Given the description of an element on the screen output the (x, y) to click on. 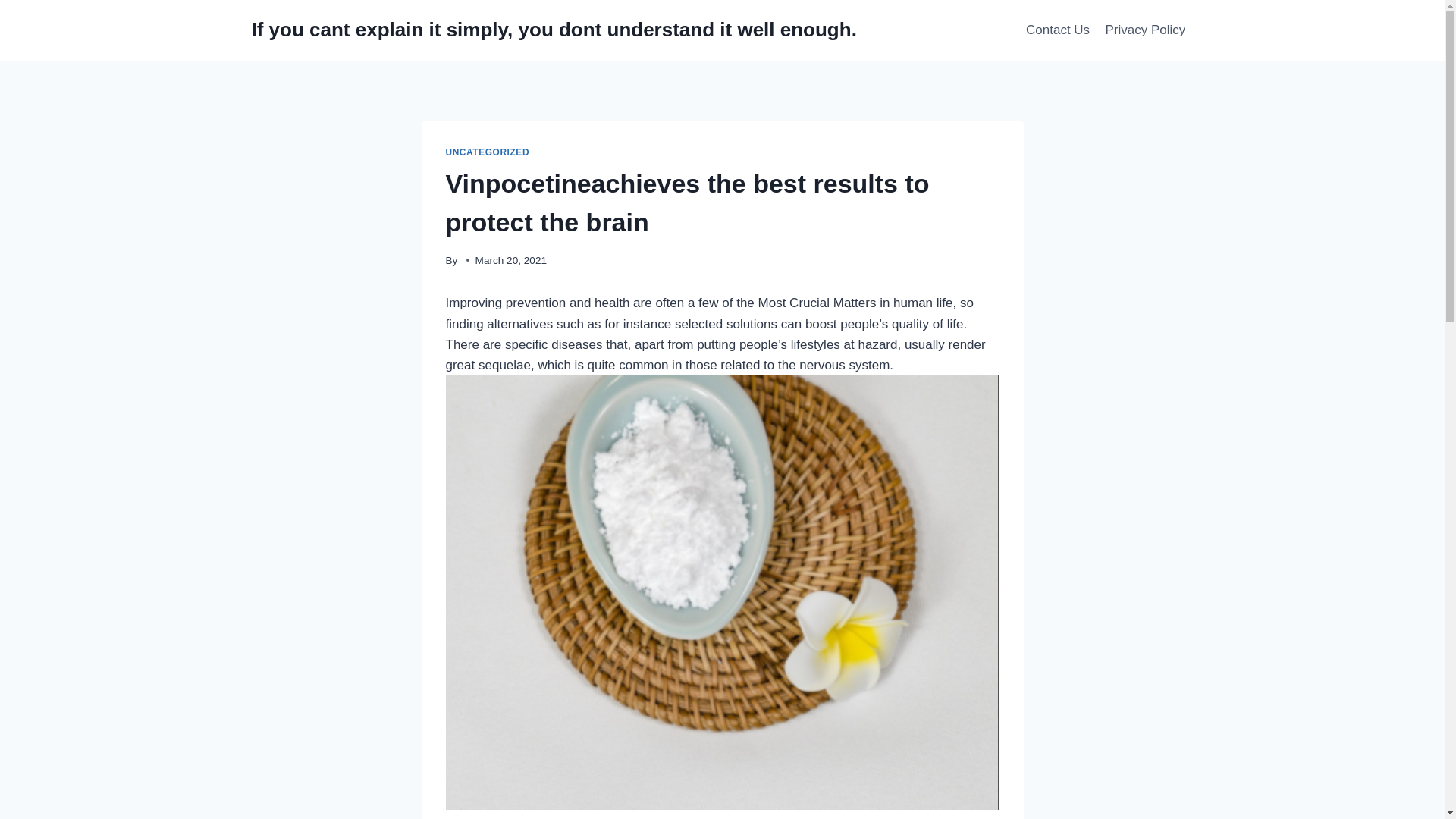
UNCATEGORIZED (487, 152)
Contact Us (1057, 30)
Privacy Policy (1144, 30)
